Given the description of an element on the screen output the (x, y) to click on. 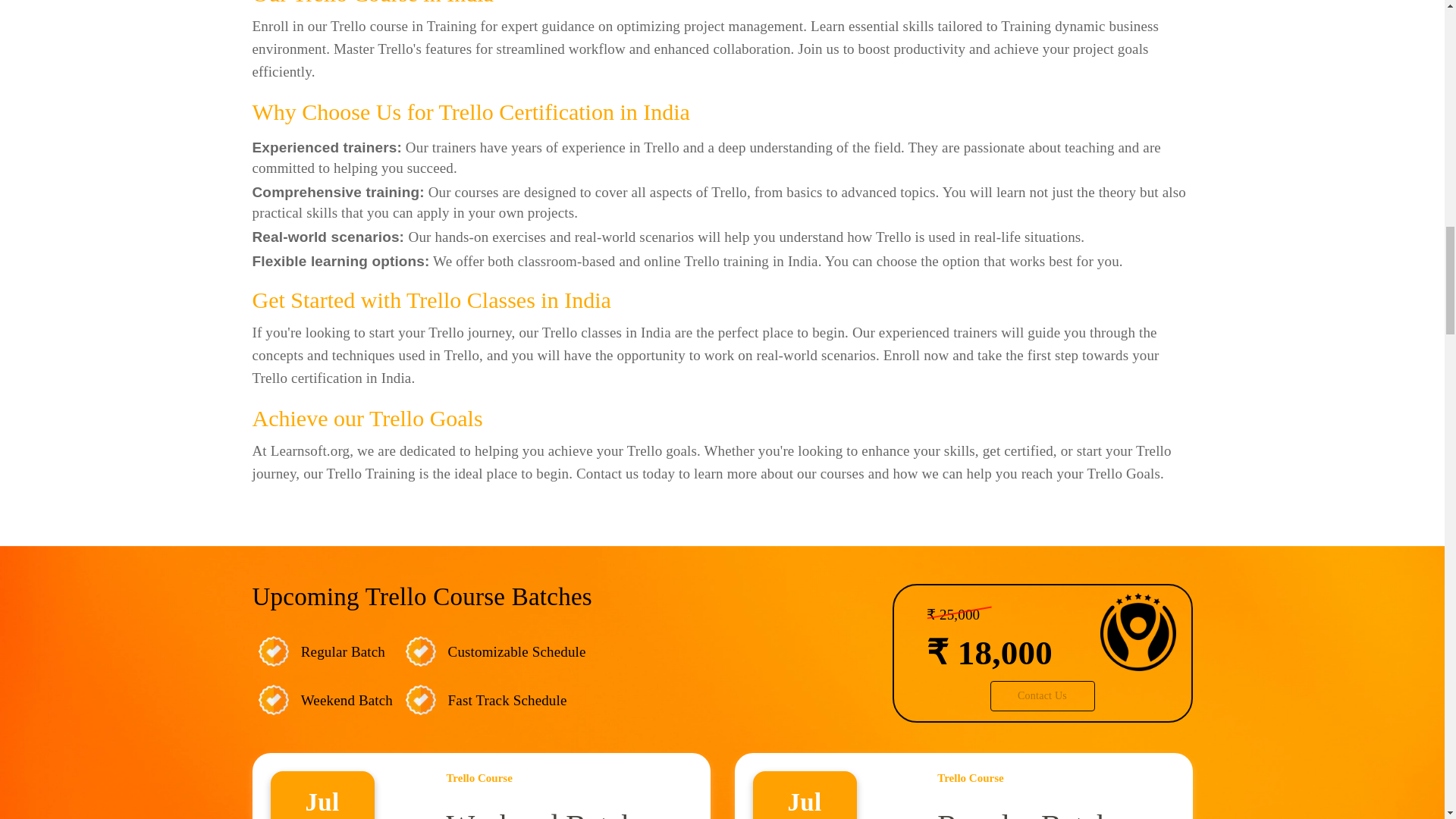
Contact Us (1042, 695)
